Given the description of an element on the screen output the (x, y) to click on. 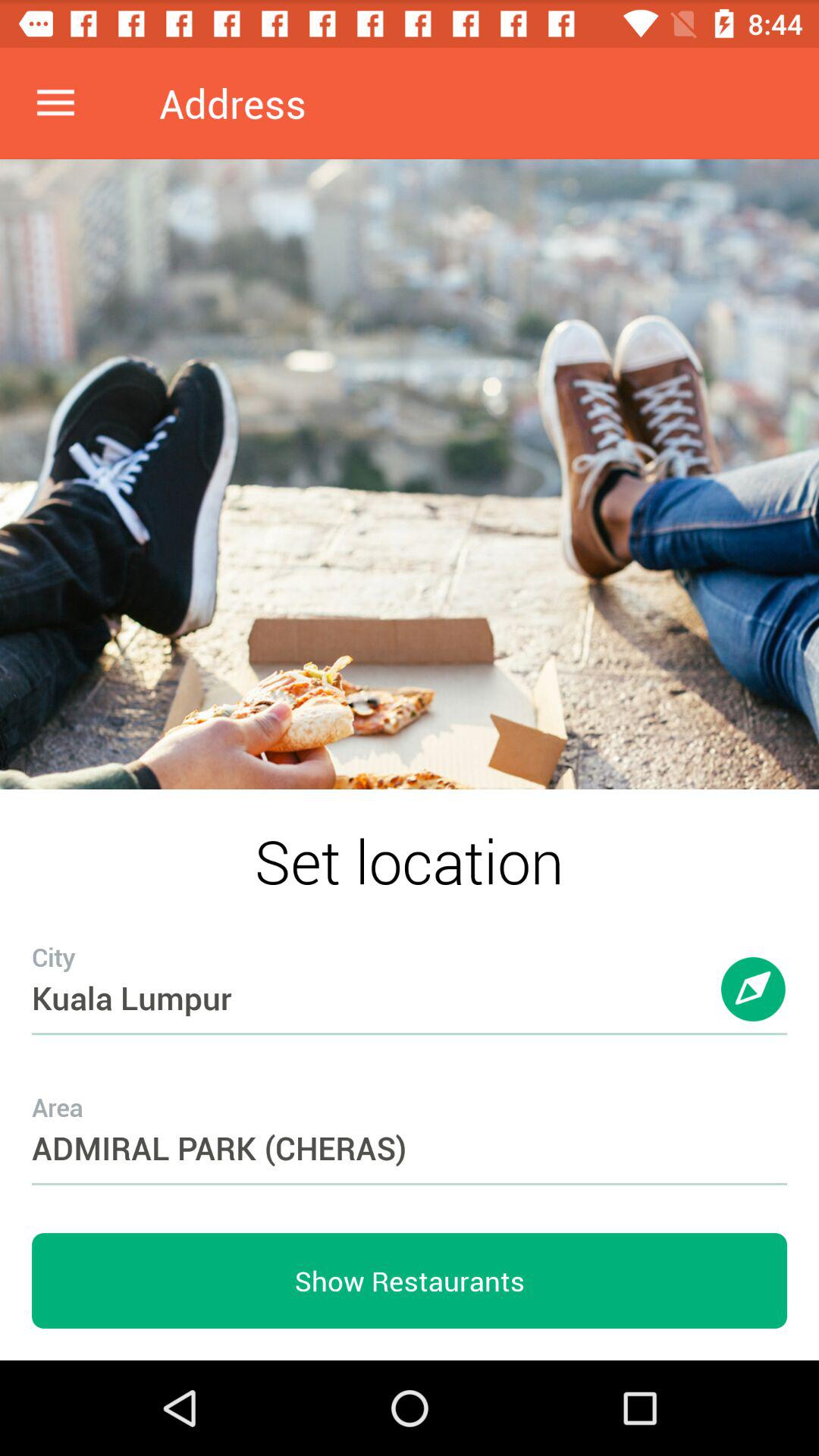
flip until the admiral park (cheras) icon (409, 1118)
